Given the description of an element on the screen output the (x, y) to click on. 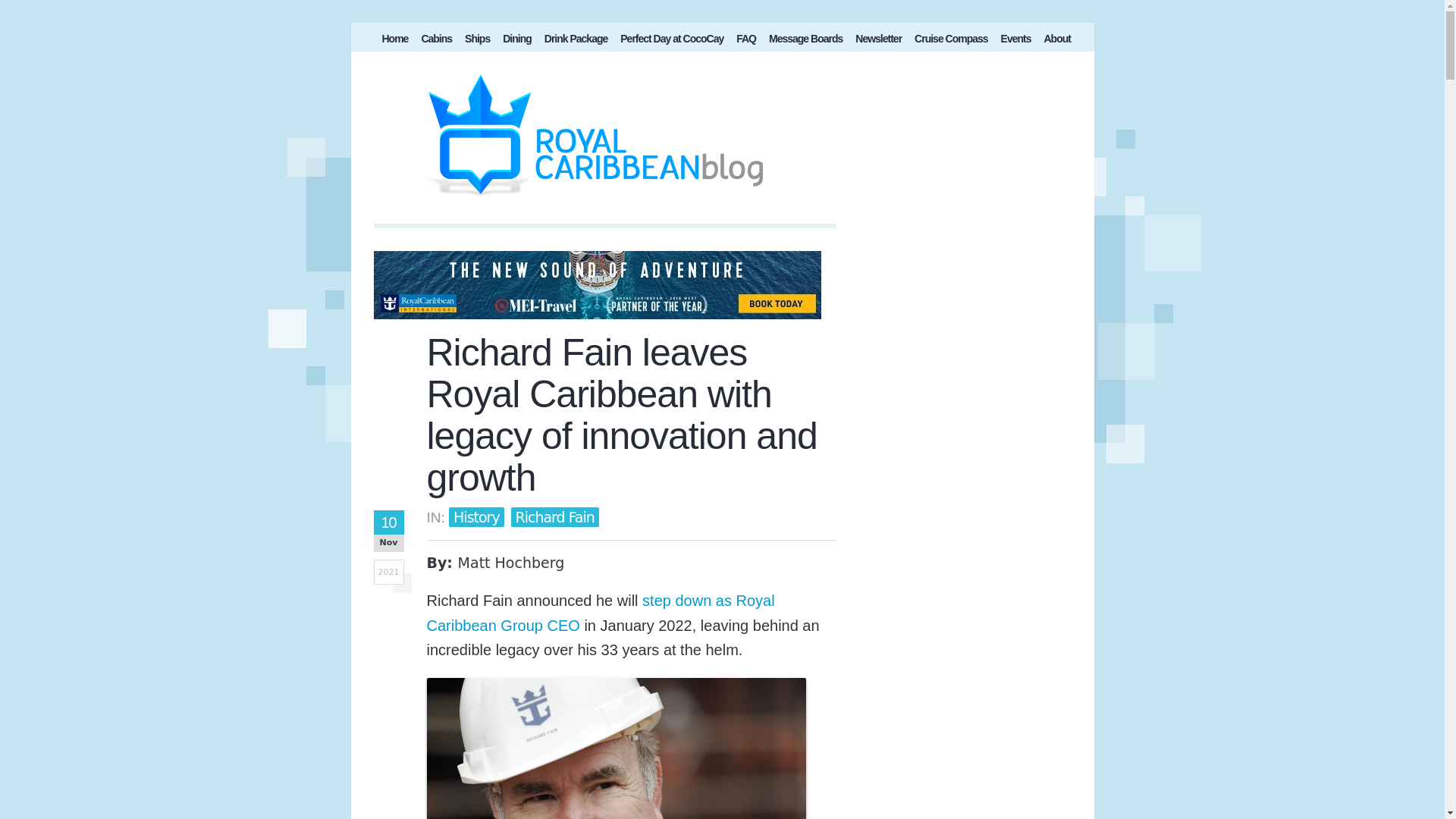
Dining (516, 40)
Answers for your Royal Caribbean cruise (746, 40)
Newsletter (877, 40)
About (1056, 40)
Community forum (805, 40)
CocoCay (671, 40)
Royal Caribbean Blog newsletter (877, 40)
Cruise cabins and suites (436, 40)
Royal Caribbean drink package (576, 40)
